Given the description of an element on the screen output the (x, y) to click on. 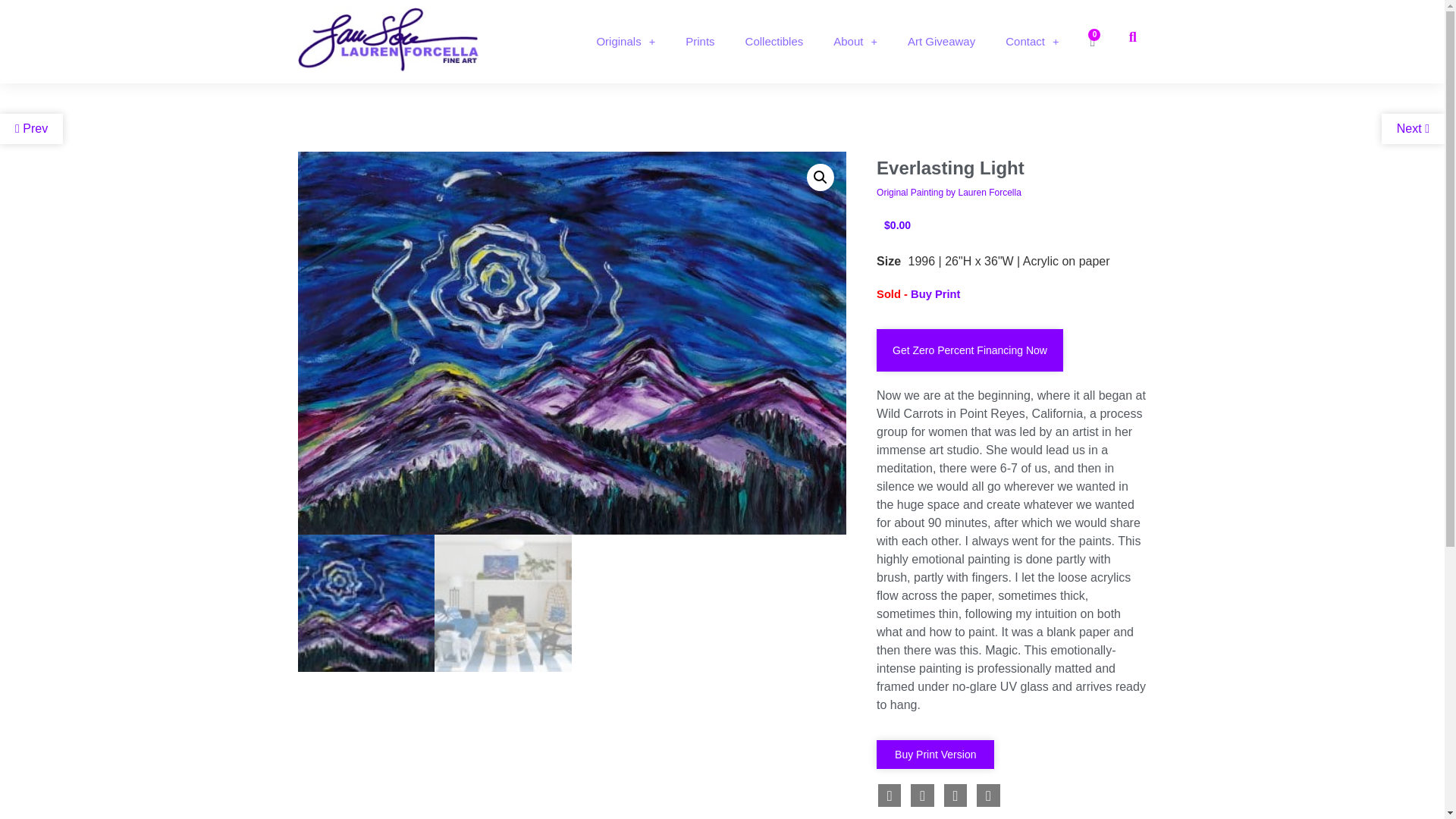
About (855, 41)
Originals (624, 41)
Prints (699, 41)
Collectibles (774, 41)
